Given the description of an element on the screen output the (x, y) to click on. 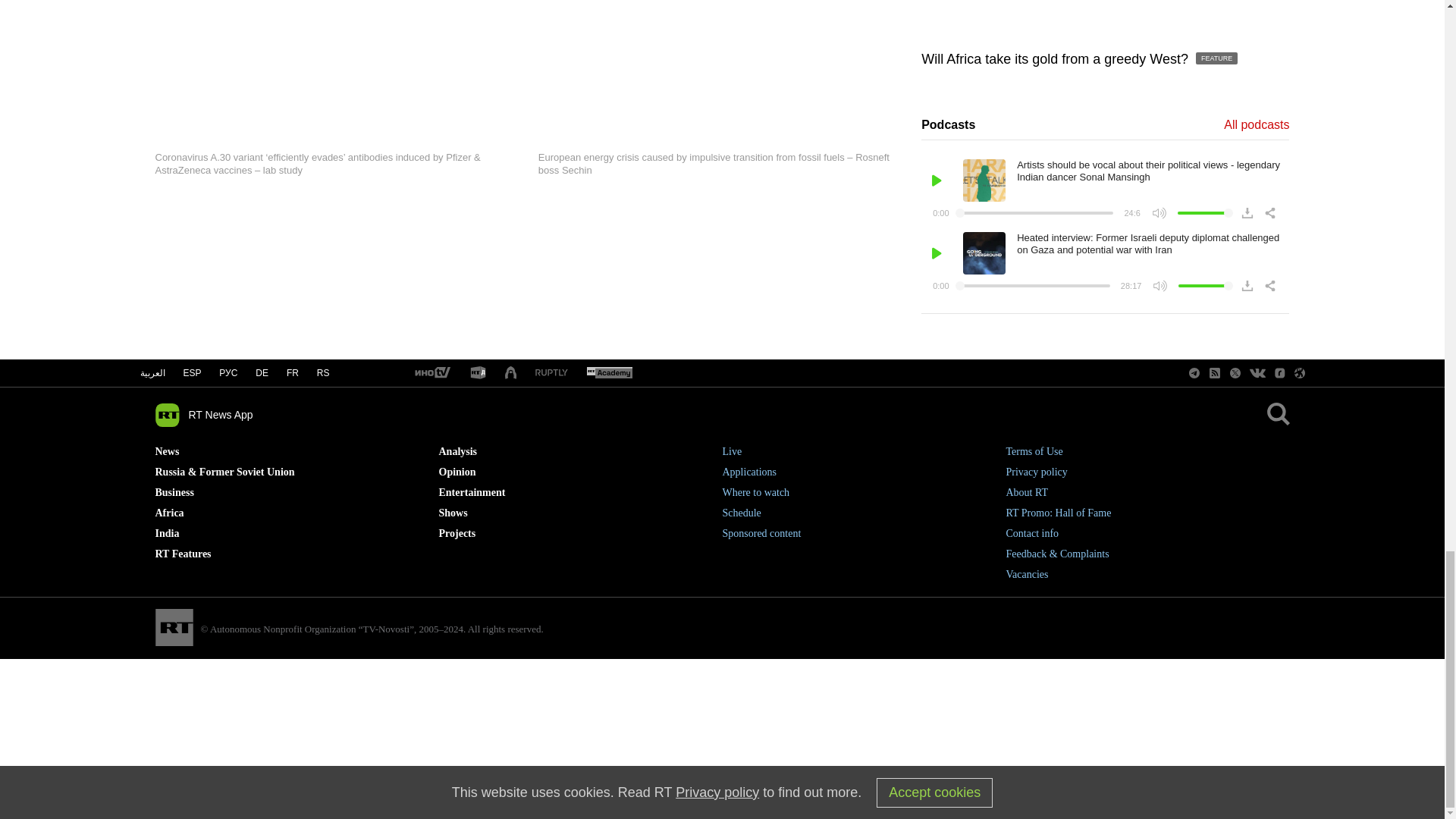
RT  (431, 373)
RT  (551, 373)
RT  (478, 373)
RT  (608, 373)
